Given the description of an element on the screen output the (x, y) to click on. 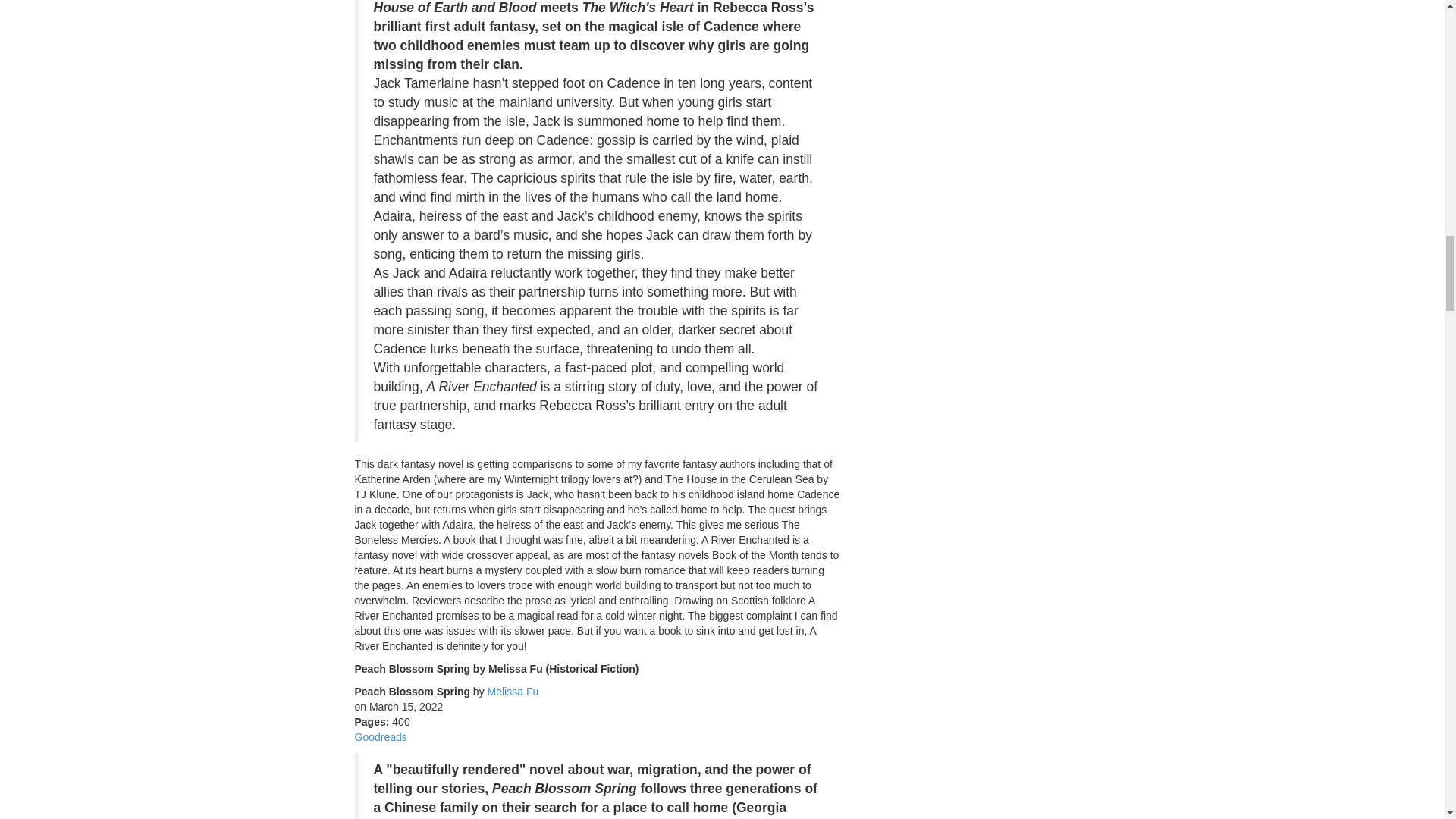
Melissa Fu (512, 691)
Goodreads (381, 736)
